Given the description of an element on the screen output the (x, y) to click on. 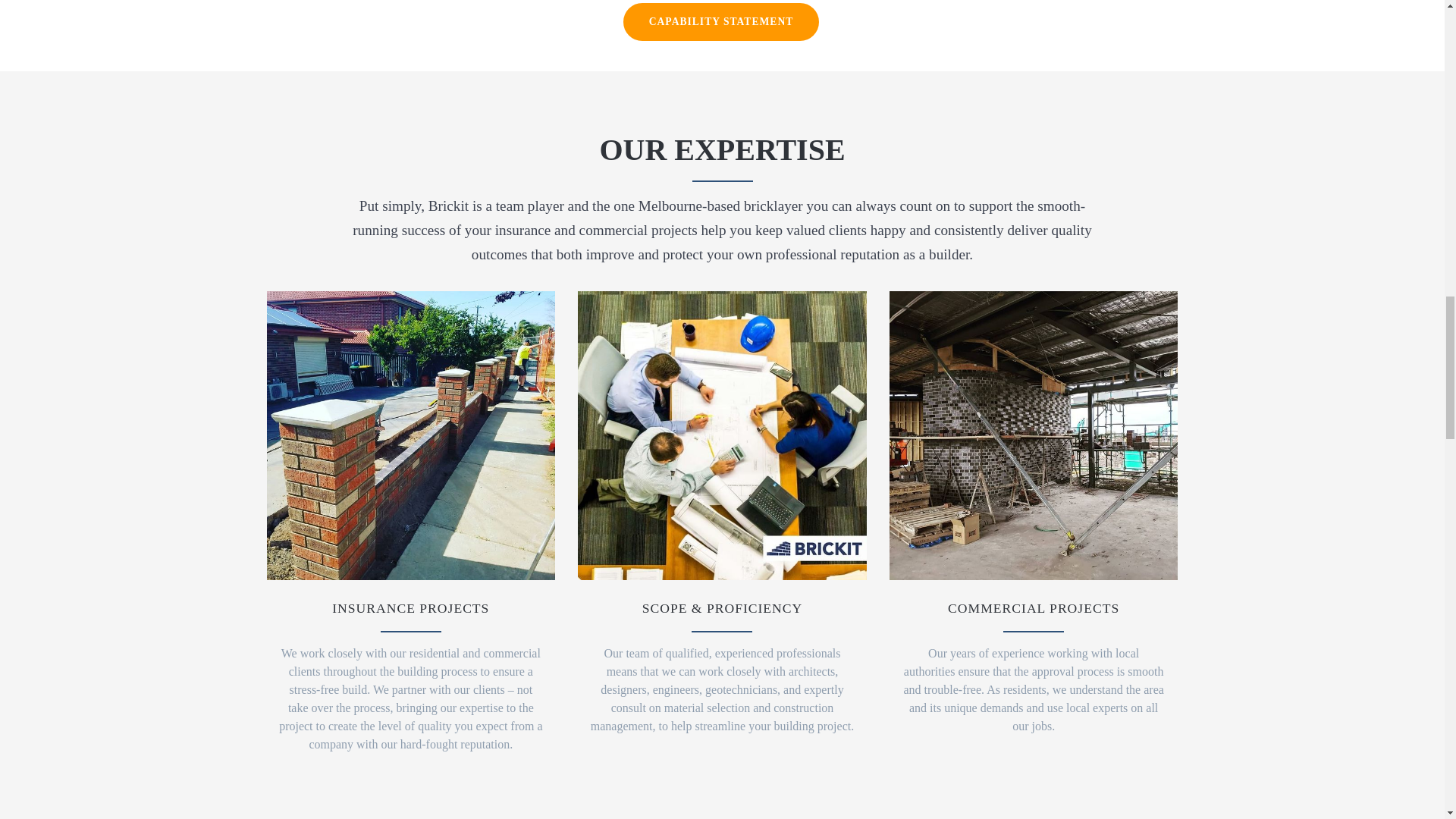
Score profecinecy (722, 435)
insurance Project (411, 435)
Commercial Pro (1033, 435)
